Given the description of an element on the screen output the (x, y) to click on. 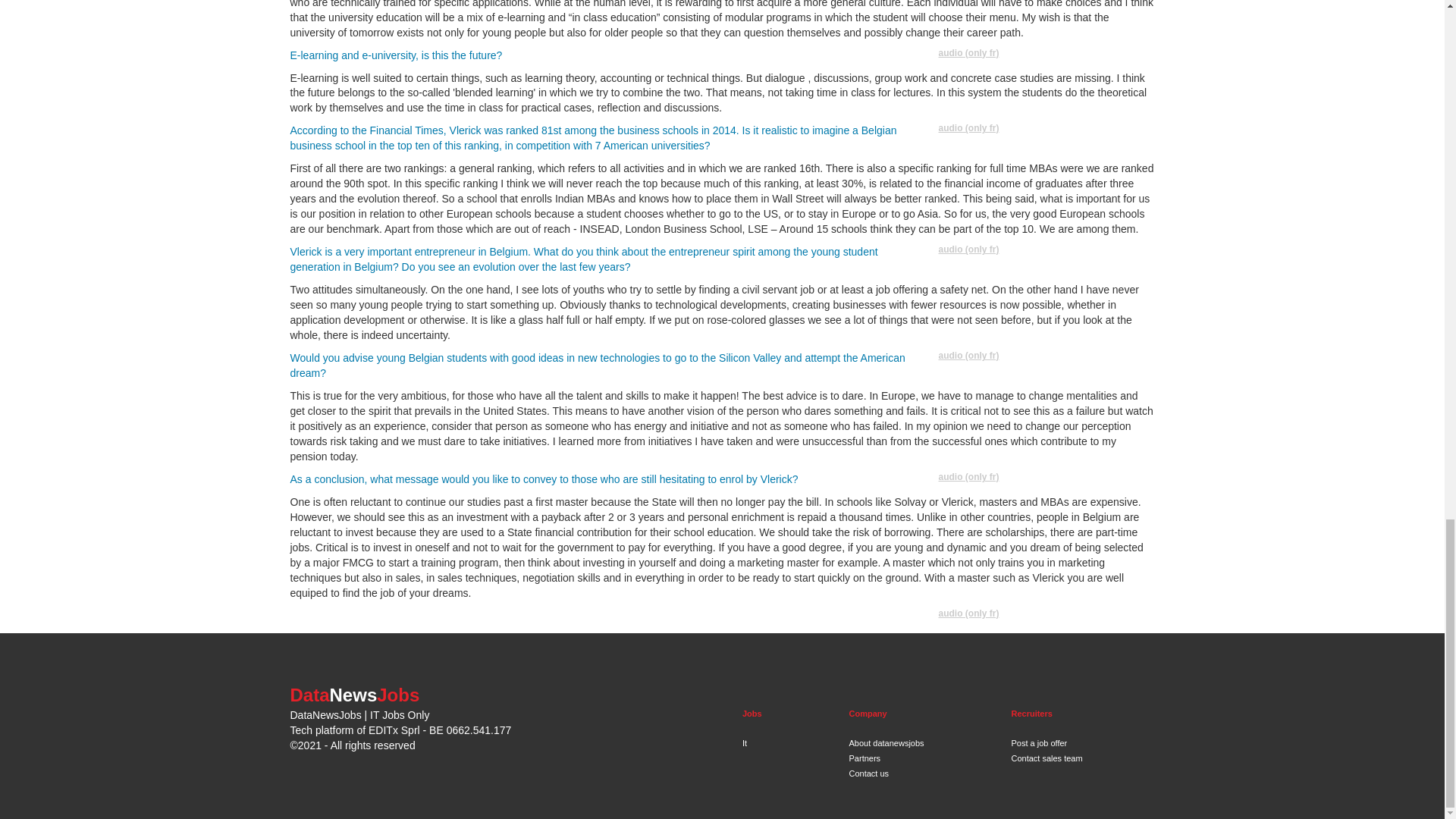
About datanewsjobs (886, 742)
Post a job offer (1038, 742)
Partners (864, 757)
Contact sales team (1045, 757)
Contact us (868, 773)
